Given the description of an element on the screen output the (x, y) to click on. 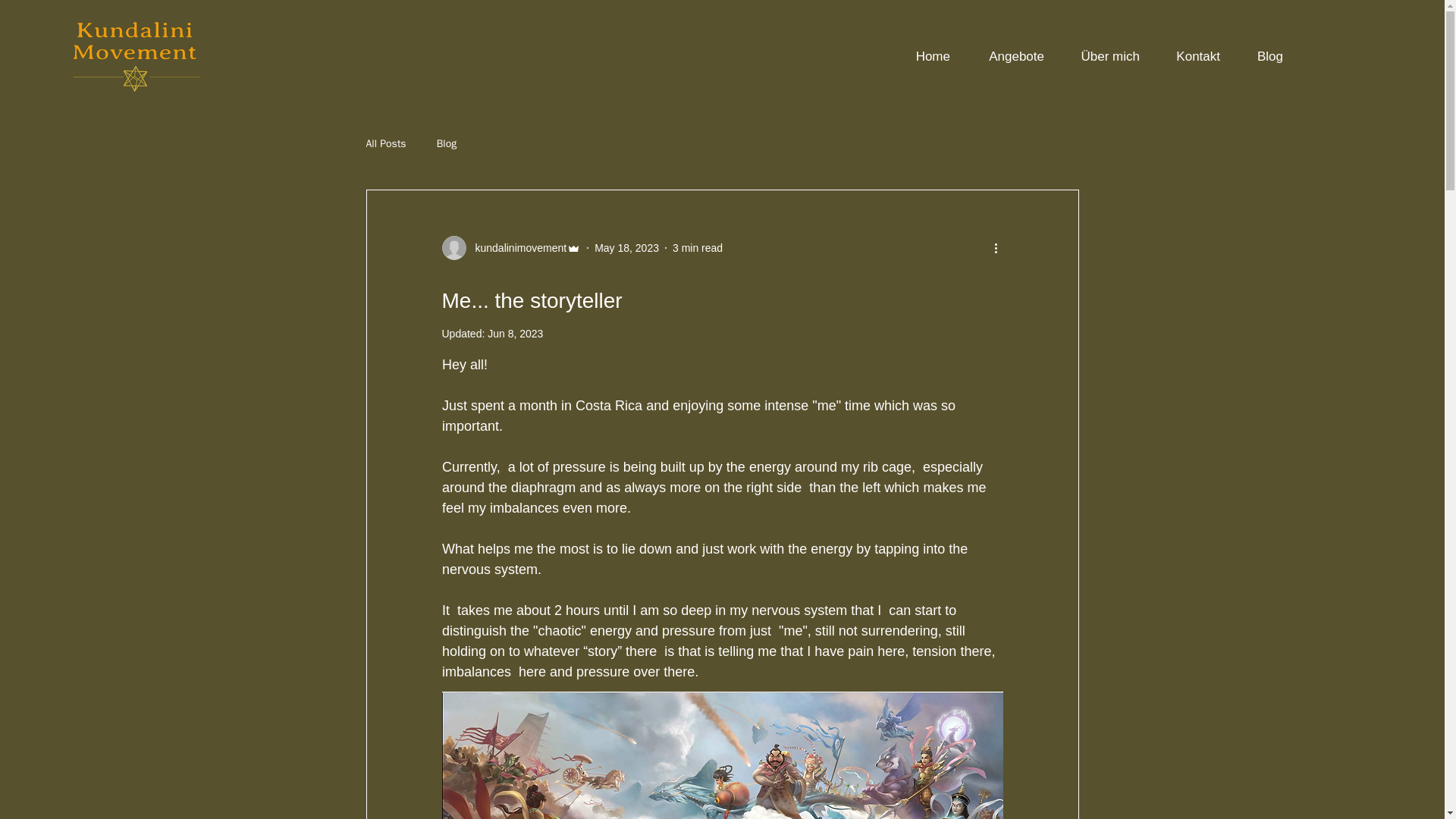
Angebote (1007, 56)
Jun 8, 2023 (515, 333)
All Posts (385, 143)
May 18, 2023 (626, 246)
Kontakt (1191, 56)
Home (924, 56)
3 min read (697, 246)
kundalinimovement (515, 247)
Blog (1262, 56)
kundalinimovement (510, 247)
Homepage (136, 56)
Blog (446, 143)
